Given the description of an element on the screen output the (x, y) to click on. 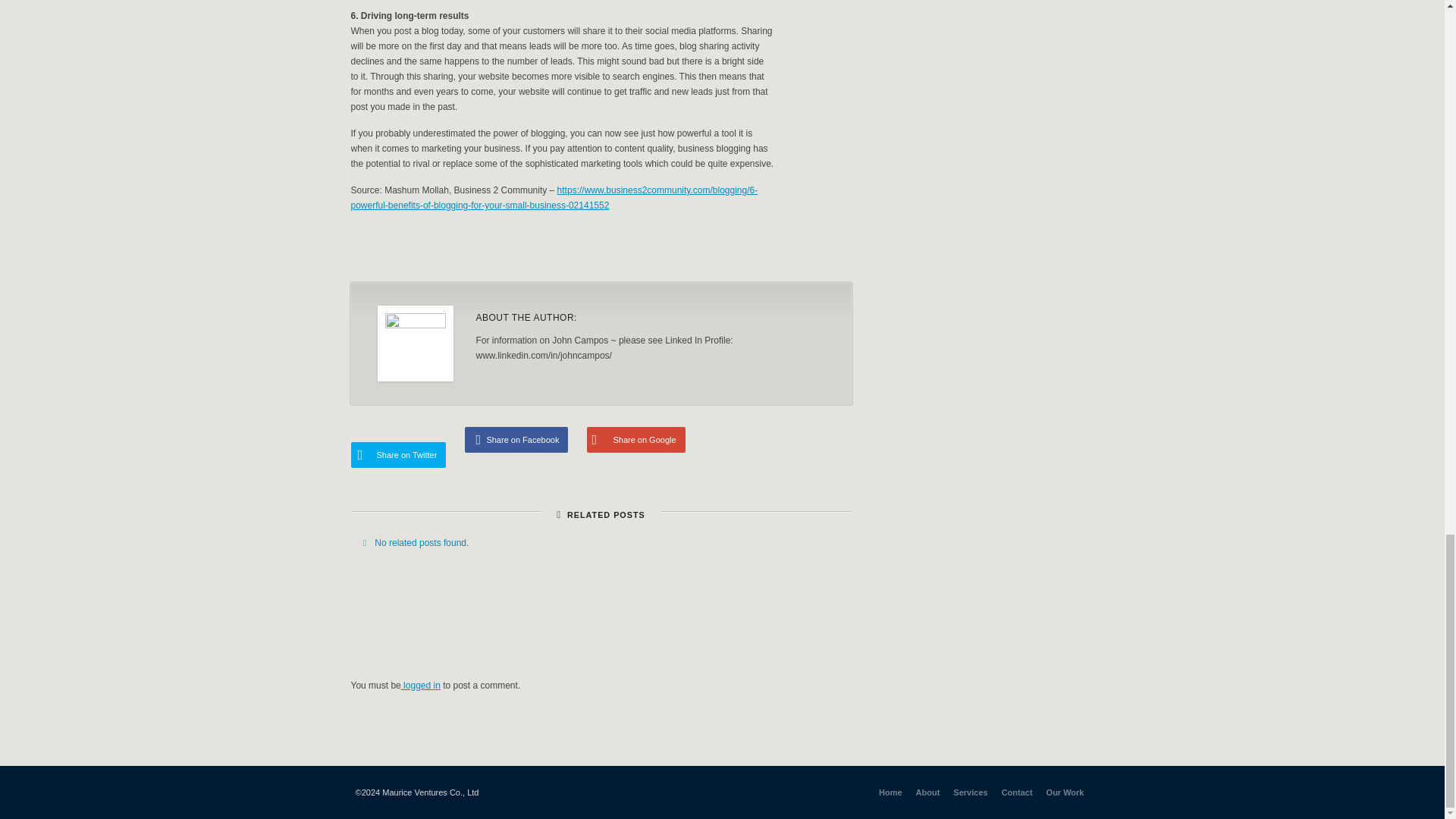
Services (970, 791)
Contact (1016, 791)
Home (890, 791)
Share on Google (635, 439)
About (927, 791)
Our Work (1065, 791)
logged in (421, 685)
Share (742, 250)
Share on Twitter (397, 454)
Share on Facebook (515, 439)
